Given the description of an element on the screen output the (x, y) to click on. 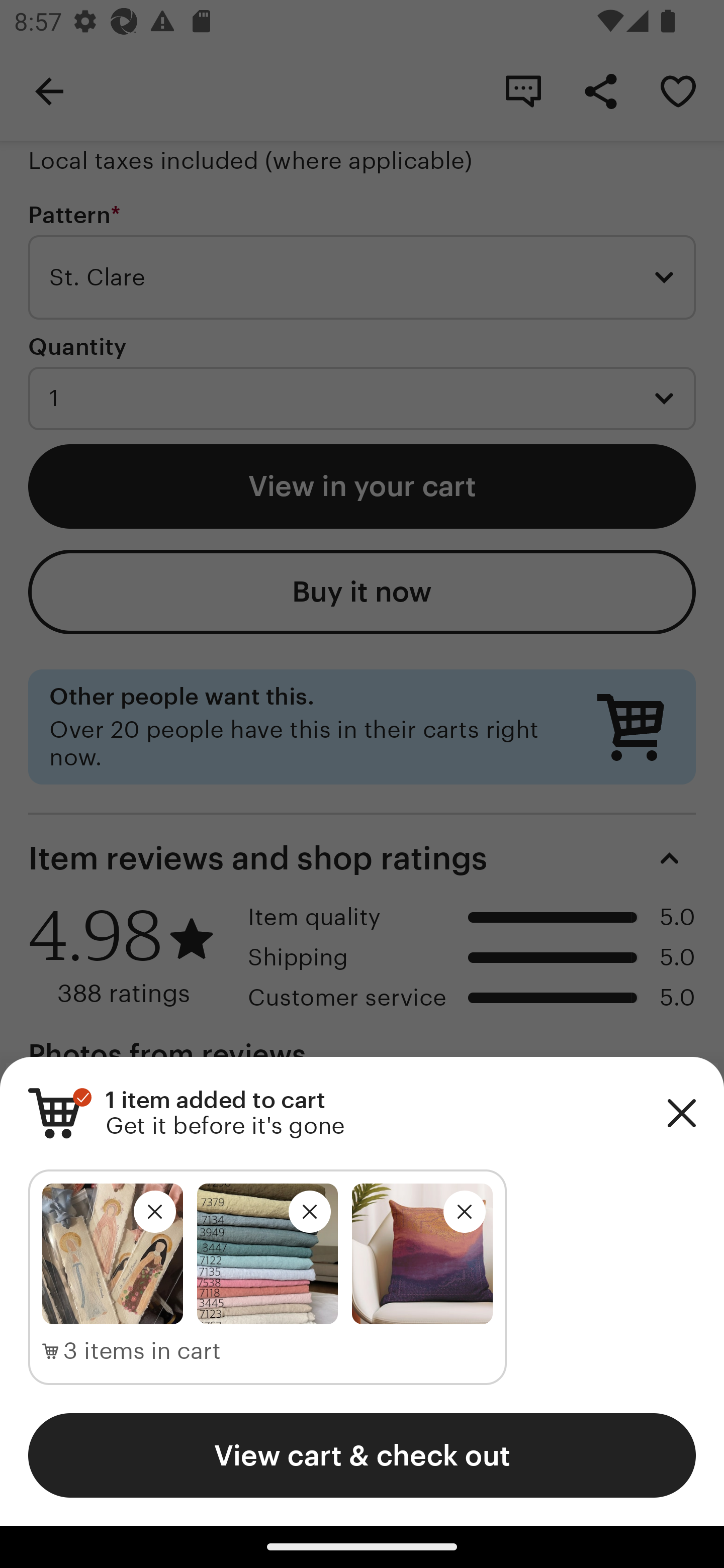
3 items in cart (131, 1351)
View cart & check out (361, 1454)
